Given the description of an element on the screen output the (x, y) to click on. 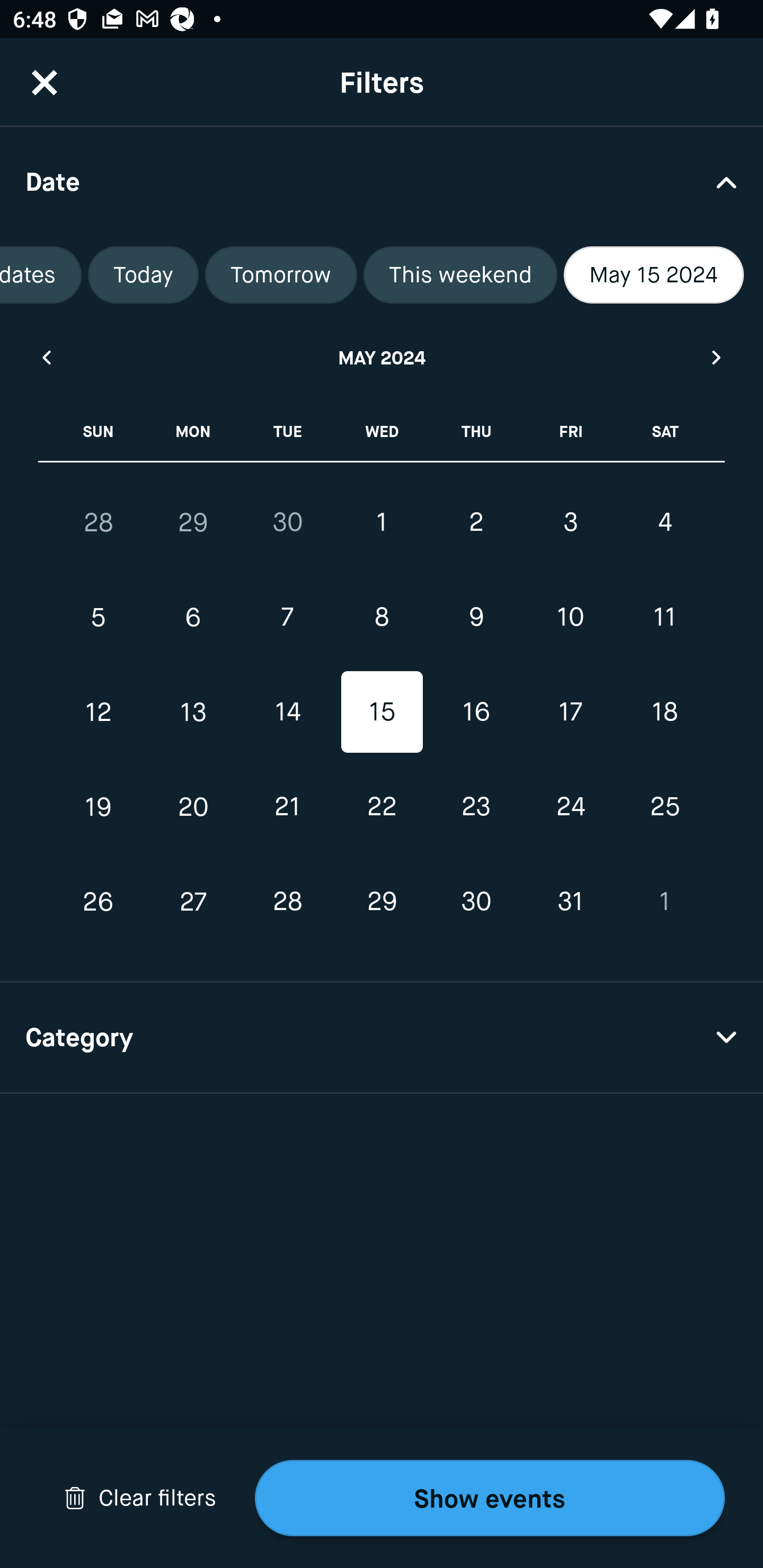
CloseButton (44, 82)
Date Drop Down Arrow (381, 181)
All dates (40, 274)
Today (142, 274)
Tomorrow (281, 274)
This weekend (460, 274)
May 15 2024 (653, 274)
Previous (45, 357)
Next (717, 357)
28 (98, 522)
29 (192, 522)
30 (287, 522)
1 (381, 522)
2 (475, 522)
3 (570, 522)
4 (664, 522)
5 (98, 617)
6 (192, 617)
7 (287, 617)
8 (381, 617)
9 (475, 617)
10 (570, 617)
11 (664, 617)
12 (98, 711)
13 (192, 711)
14 (287, 711)
15 (381, 711)
16 (475, 711)
17 (570, 711)
18 (664, 711)
19 (98, 806)
20 (192, 806)
21 (287, 806)
22 (381, 806)
23 (475, 806)
24 (570, 806)
25 (664, 806)
26 (98, 901)
27 (192, 901)
28 (287, 901)
29 (381, 901)
30 (475, 901)
31 (570, 901)
1 (664, 901)
Category Drop Down Arrow (381, 1038)
Drop Down Arrow Clear filters (139, 1497)
Show events (489, 1497)
